Given the description of an element on the screen output the (x, y) to click on. 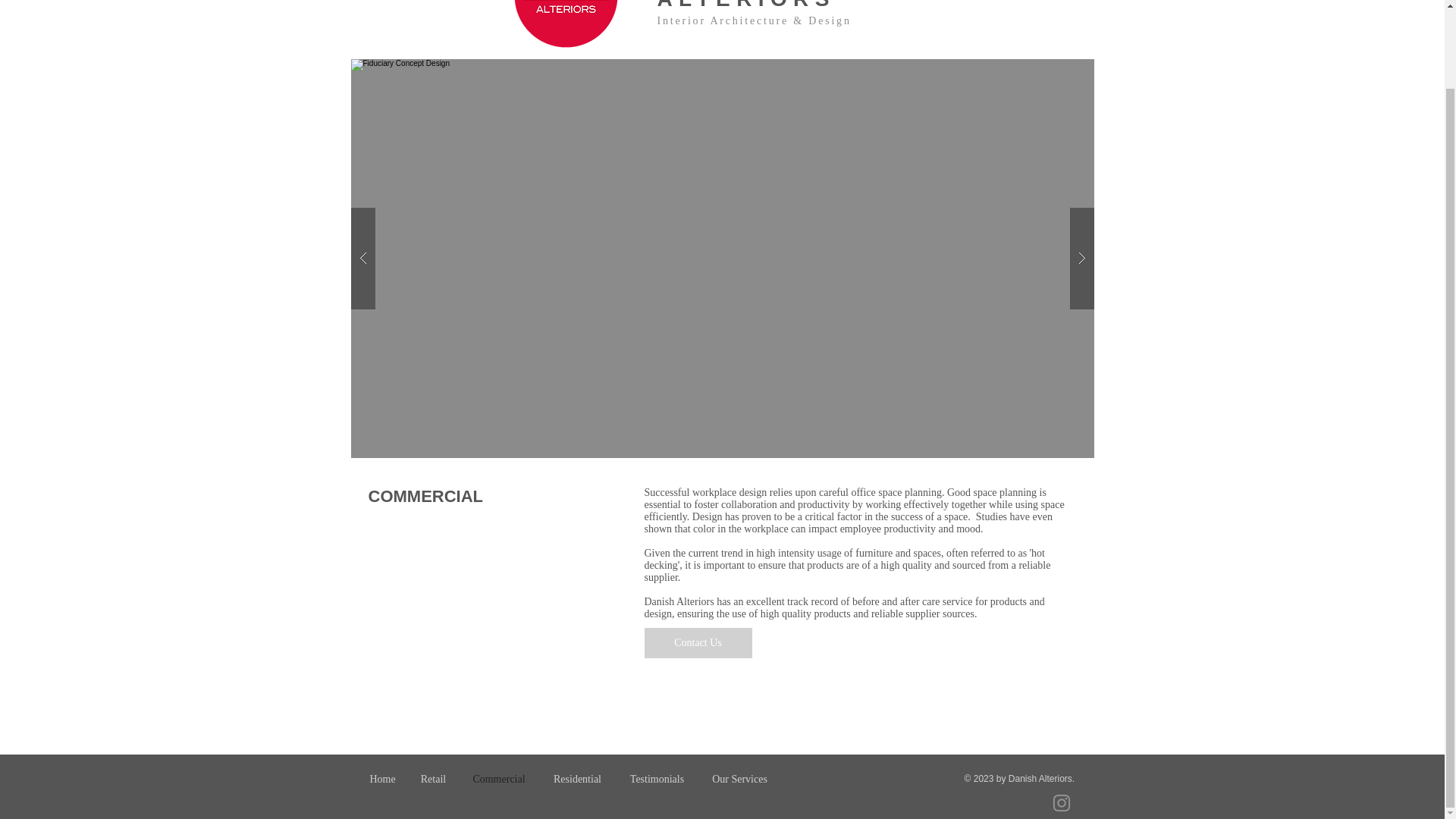
Our Services (739, 779)
Home (381, 779)
Retail (432, 779)
ALTERIORS (745, 5)
Commercial (498, 779)
Residential (577, 779)
Contact Us (698, 643)
Testimonials (656, 779)
